Given the description of an element on the screen output the (x, y) to click on. 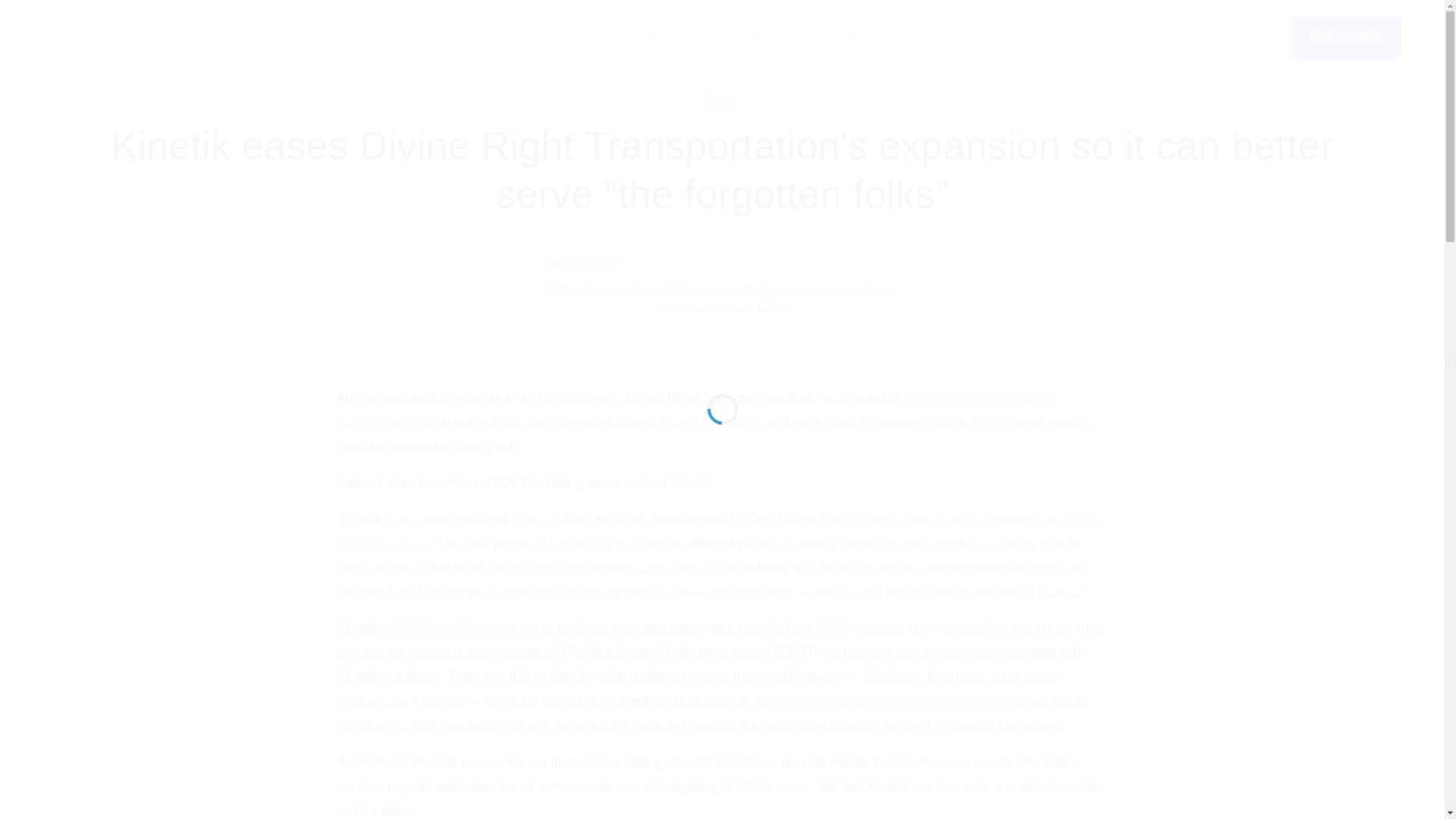
Resources (721, 36)
Company (819, 36)
Solutions (624, 36)
